Given the description of an element on the screen output the (x, y) to click on. 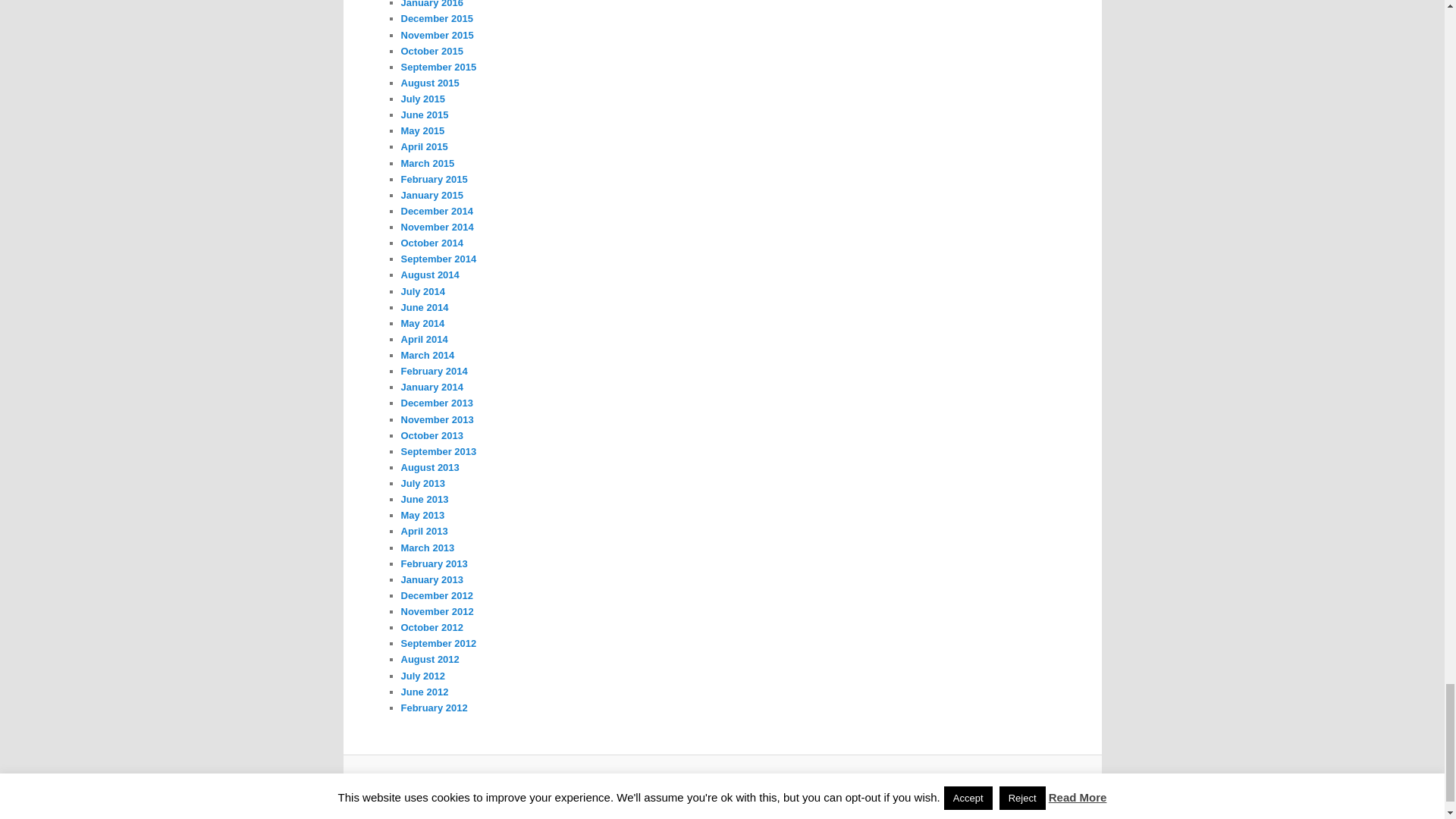
Semantic Personal Publishing Platform (749, 784)
